Given the description of an element on the screen output the (x, y) to click on. 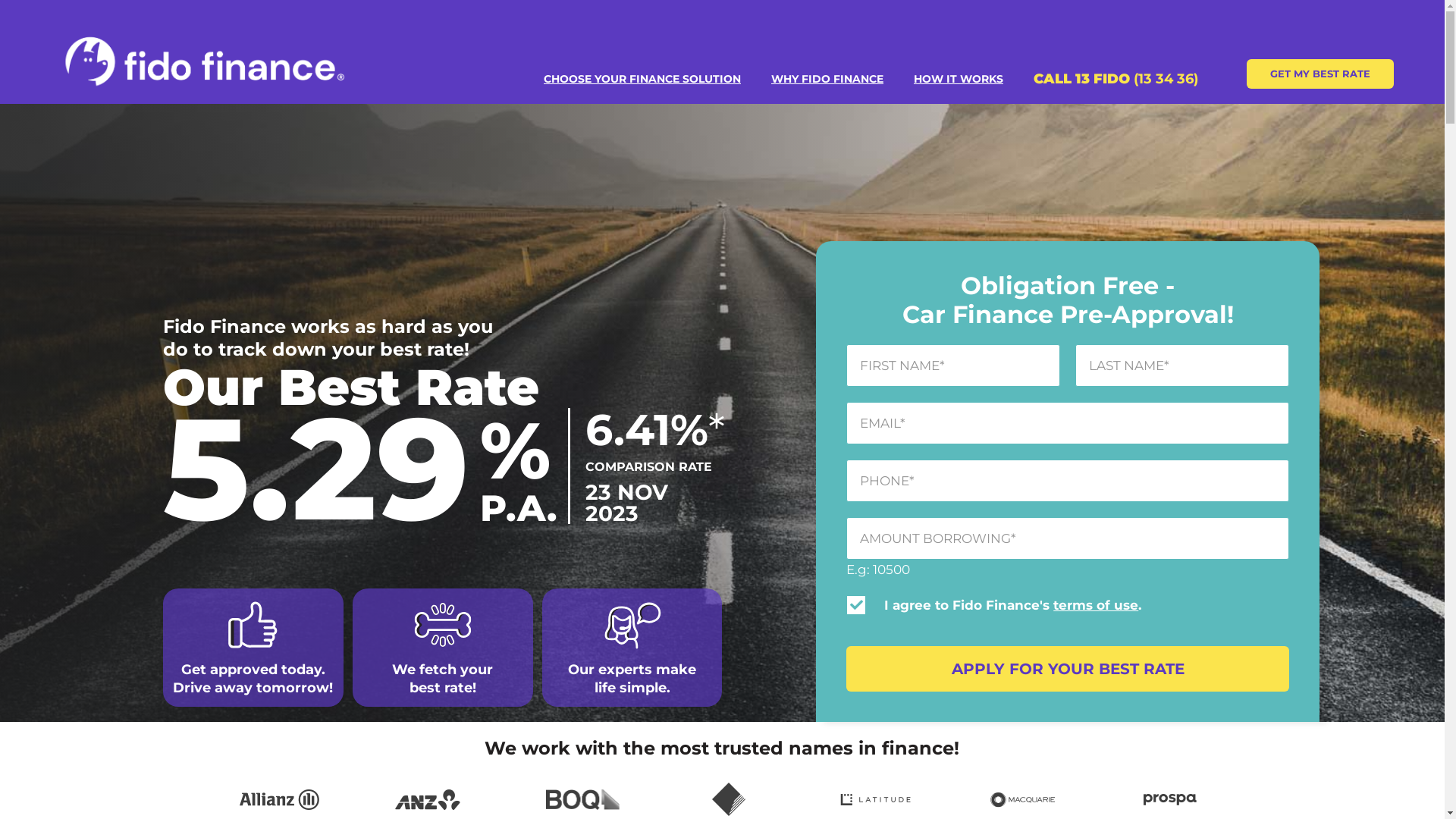
HOW IT WORKS Element type: text (958, 78)
APPLY FOR YOUR BEST RATE Element type: text (1067, 668)
CHOOSE YOUR FINANCE SOLUTION Element type: text (641, 78)
terms of use Element type: text (1095, 604)
CALL 13 FIDO (13 34 36) Element type: text (1115, 79)
WHY FIDO FINANCE Element type: text (827, 78)
GET MY BEST RATE Element type: text (1319, 73)
